Given the description of an element on the screen output the (x, y) to click on. 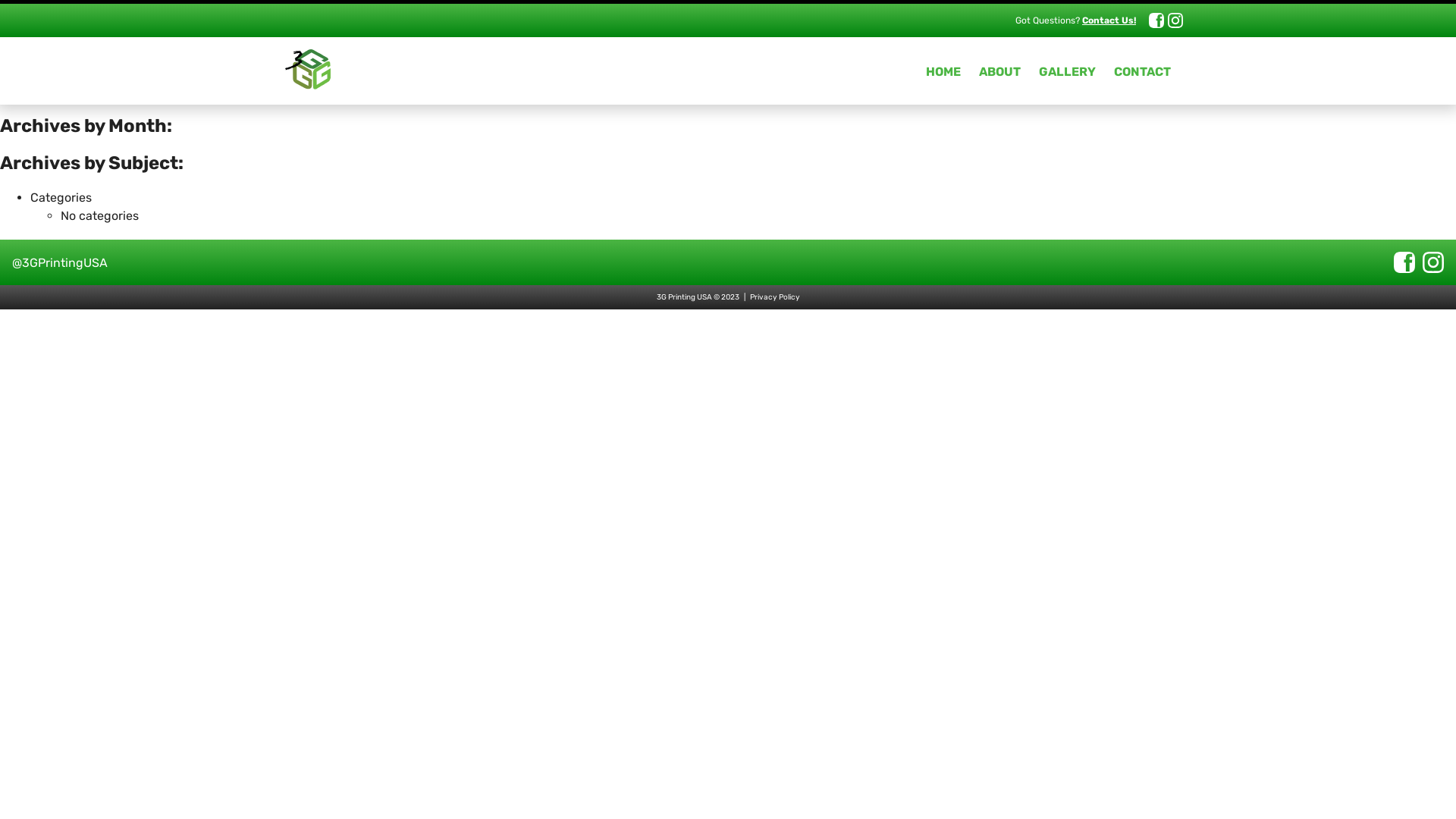
ABOUT Element type: text (999, 71)
Contact Us! Element type: text (1108, 20)
Privacy Policy Element type: text (774, 296)
HOME Element type: text (942, 71)
GALLERY Element type: text (1066, 71)
3G Printing USA Element type: text (684, 296)
CONTACT Element type: text (1141, 71)
Search Element type: text (727, 81)
